Given the description of an element on the screen output the (x, y) to click on. 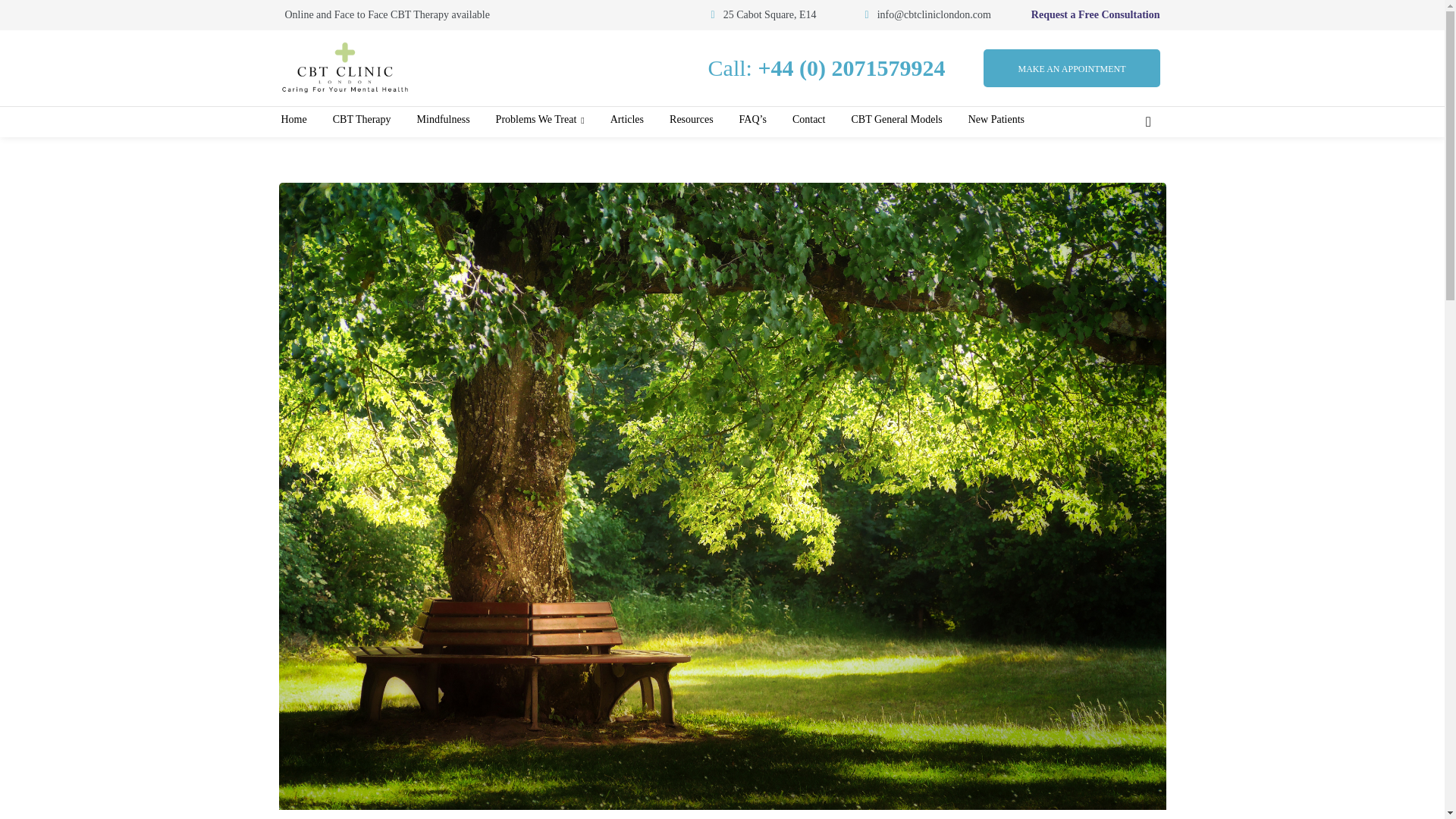
Home (292, 119)
Mindfulness (443, 119)
CBT General Models (895, 119)
Resources (691, 119)
Articles (626, 119)
Contact (808, 119)
New Patients (996, 119)
CBT Therapy (361, 119)
MAKE AN APPOINTMENT (1071, 67)
Search (1155, 167)
Problems We Treat (540, 119)
